Given the description of an element on the screen output the (x, y) to click on. 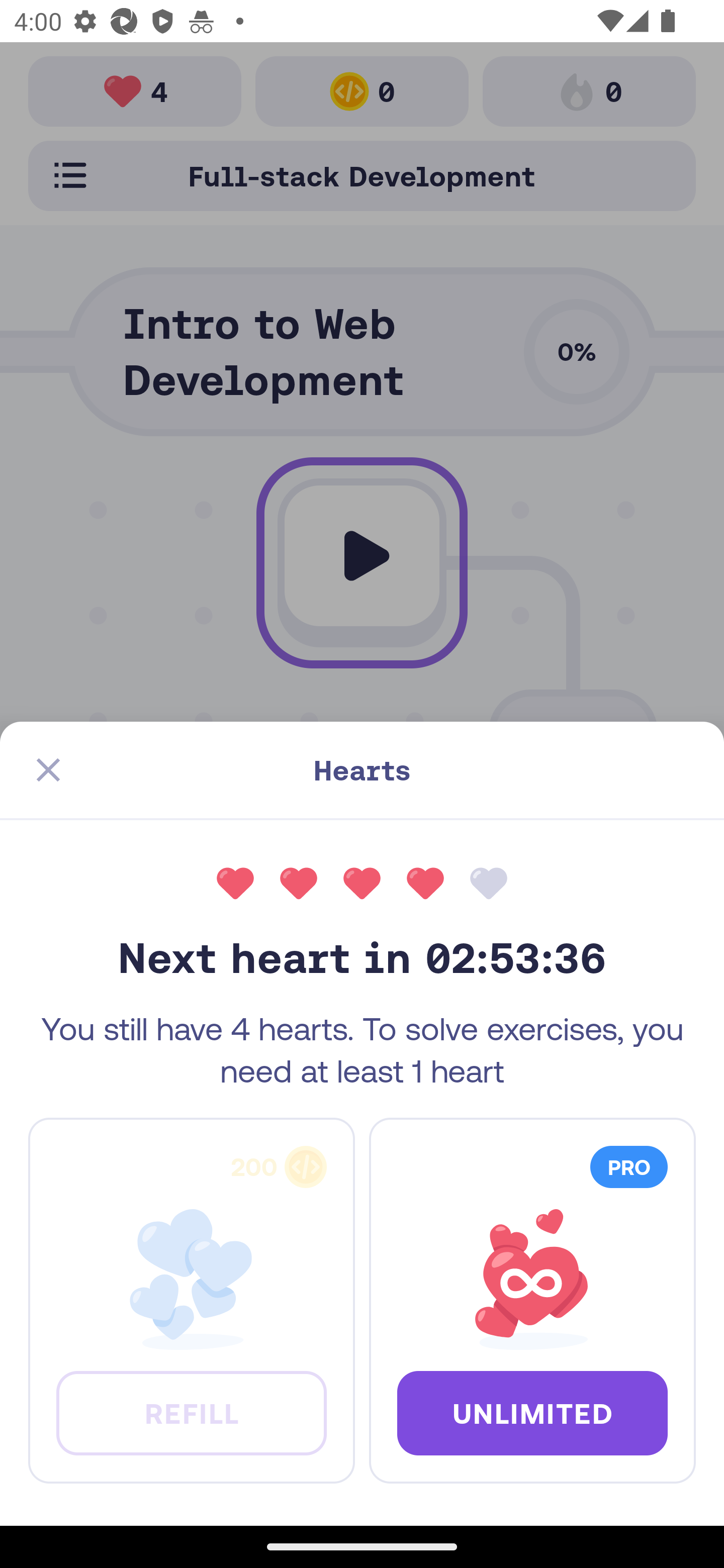
Close (47, 769)
REFILL (191, 1412)
UNLIMITED (532, 1412)
